Given the description of an element on the screen output the (x, y) to click on. 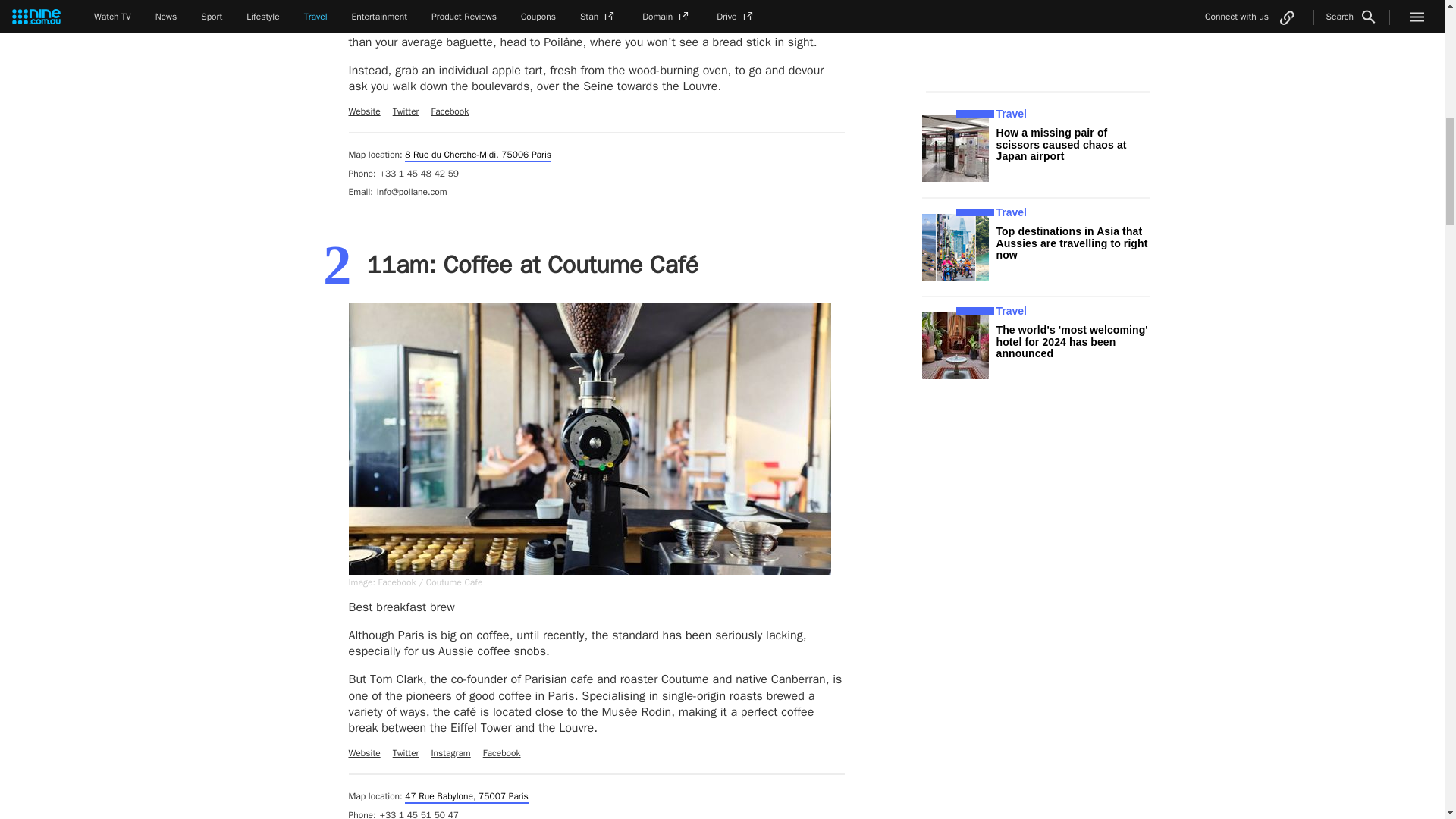
Twitter (406, 111)
Facebook (449, 111)
Website (364, 111)
